Given the description of an element on the screen output the (x, y) to click on. 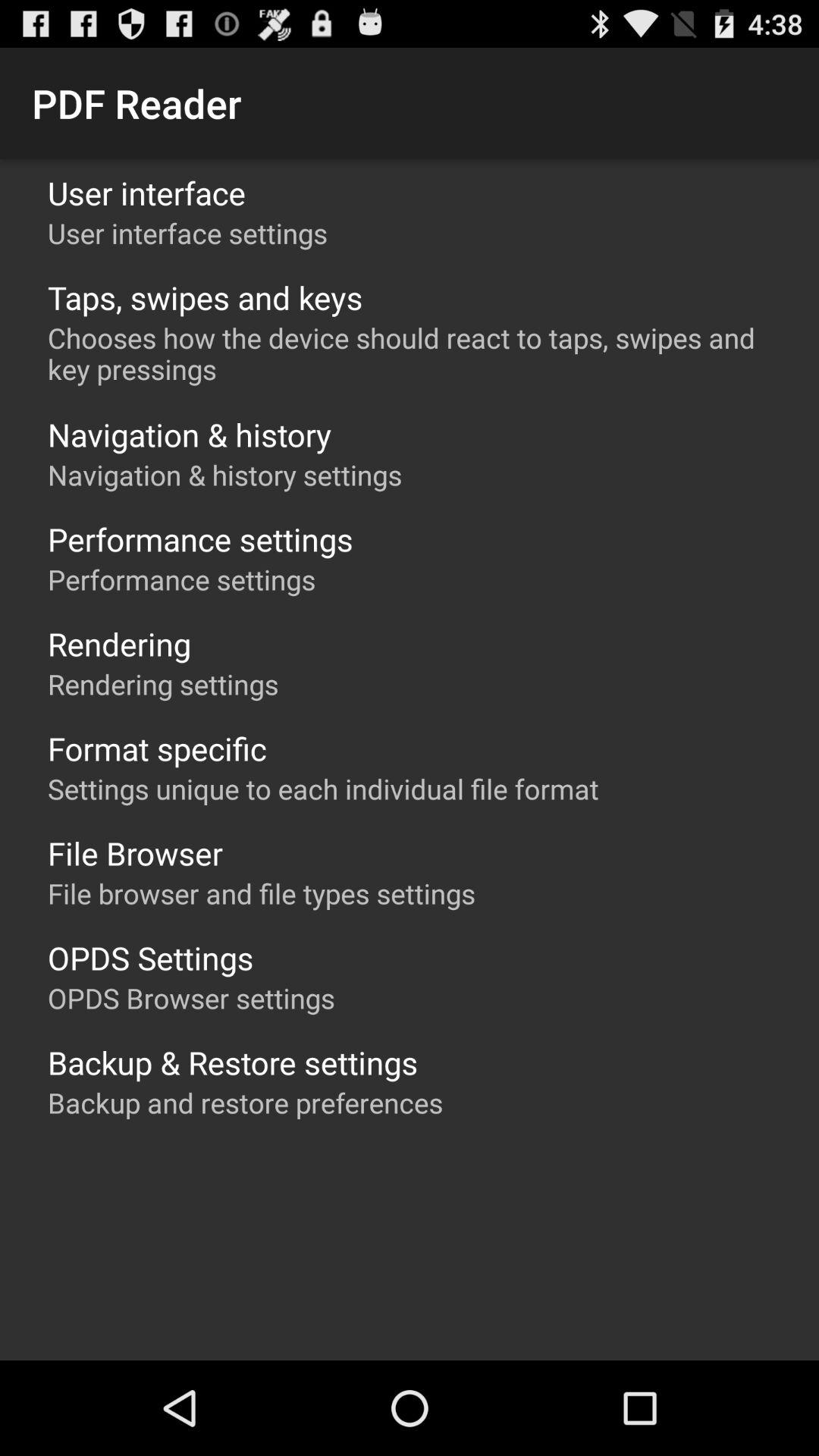
tap item below the rendering settings item (156, 748)
